Given the description of an element on the screen output the (x, y) to click on. 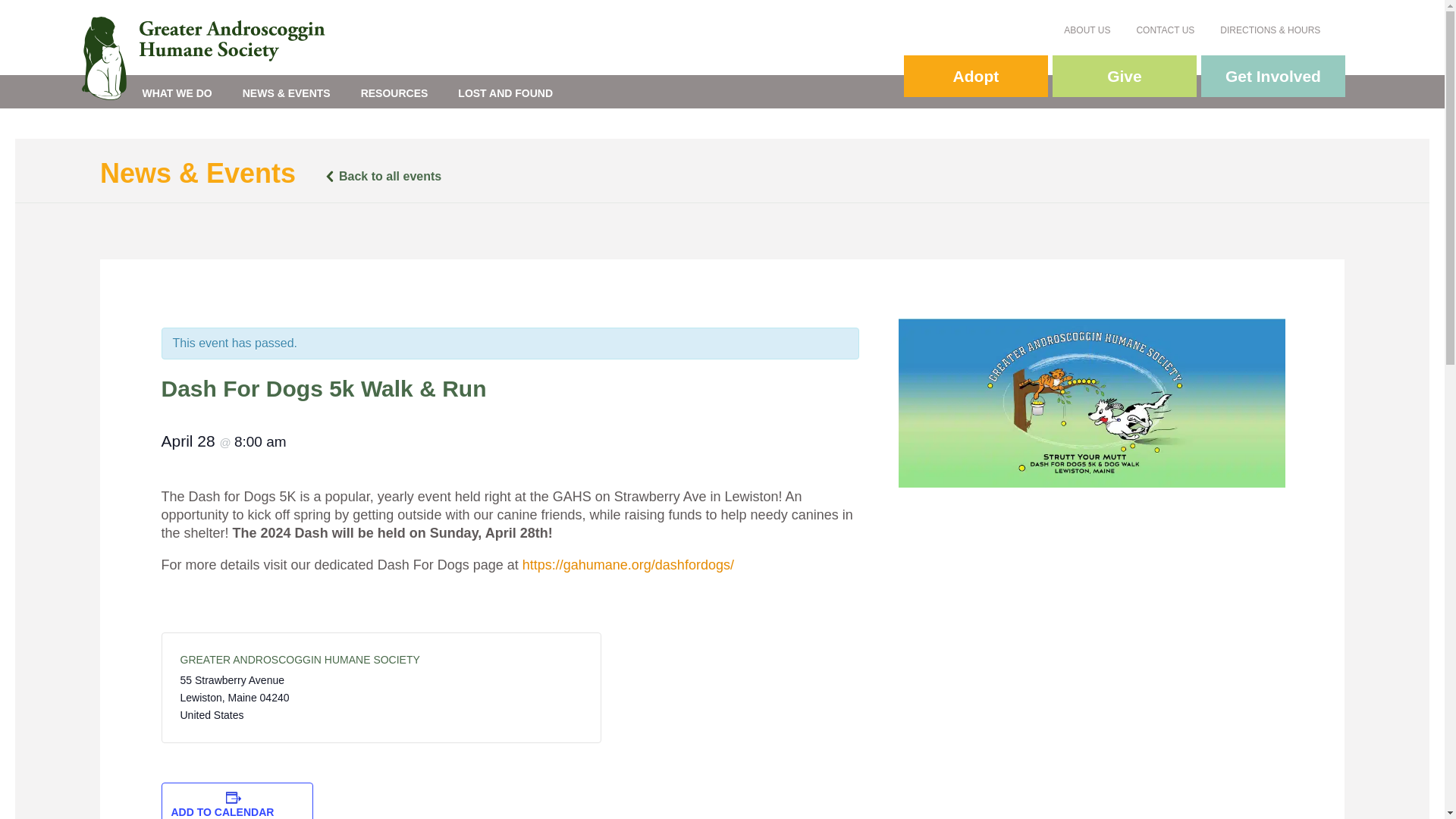
Get Involved (1273, 76)
Greater Androscoggin Humane Society (214, 37)
WHAT WE DO (176, 91)
Adopt (976, 76)
Give (1124, 76)
Maine (242, 697)
